Given the description of an element on the screen output the (x, y) to click on. 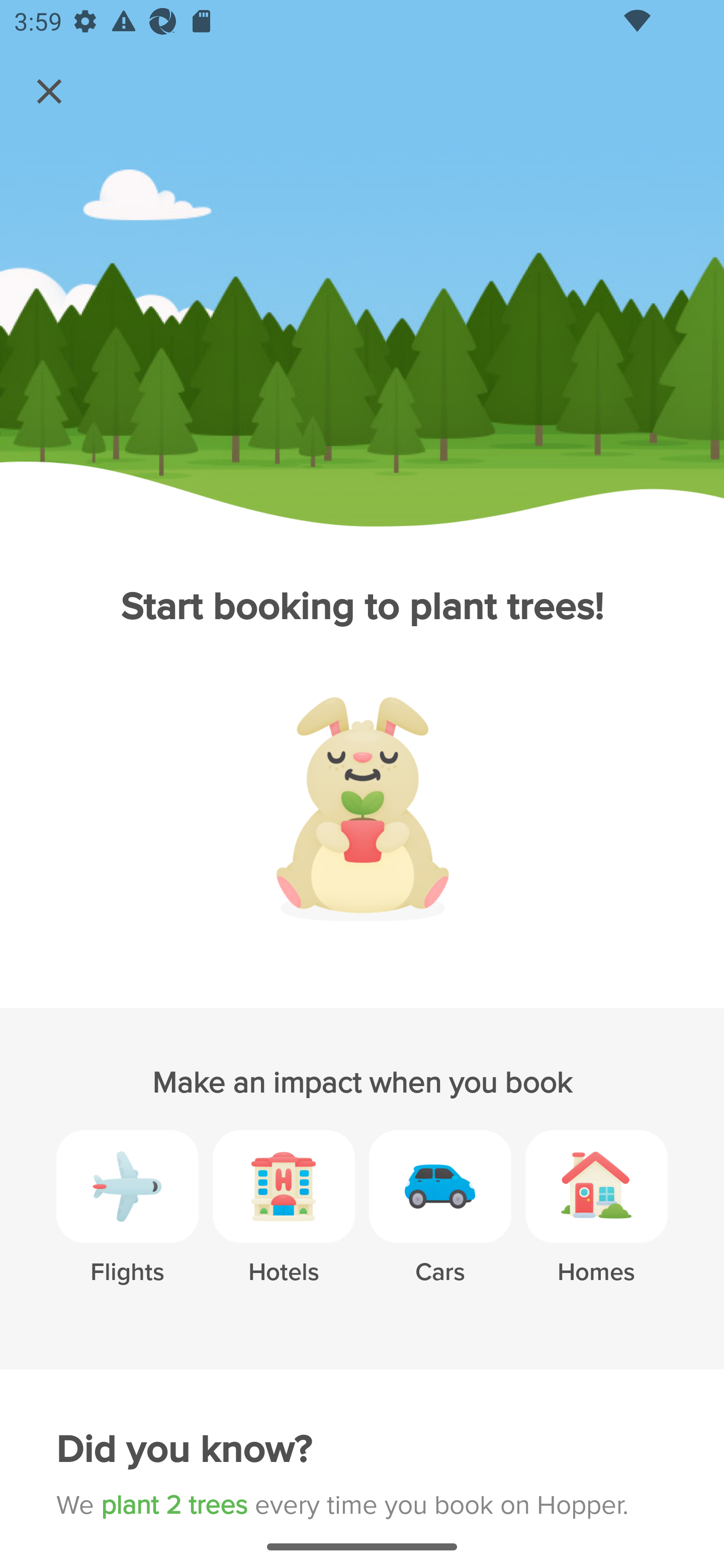
Navigate up (49, 91)
Flights (127, 1221)
Hotels (283, 1221)
Cars (440, 1221)
Homes (596, 1221)
